Given the description of an element on the screen output the (x, y) to click on. 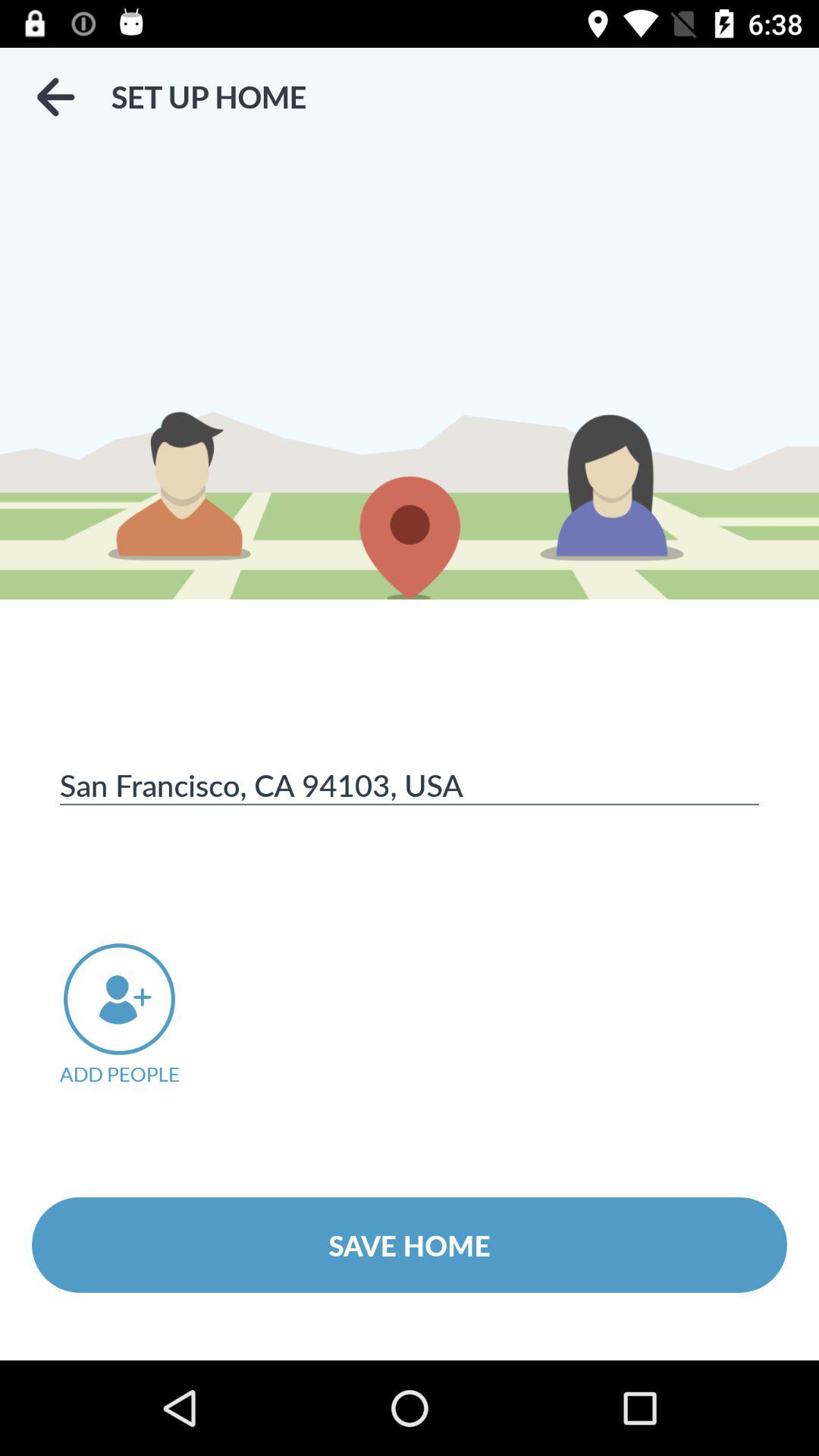
launch add people (140, 1014)
